Given the description of an element on the screen output the (x, y) to click on. 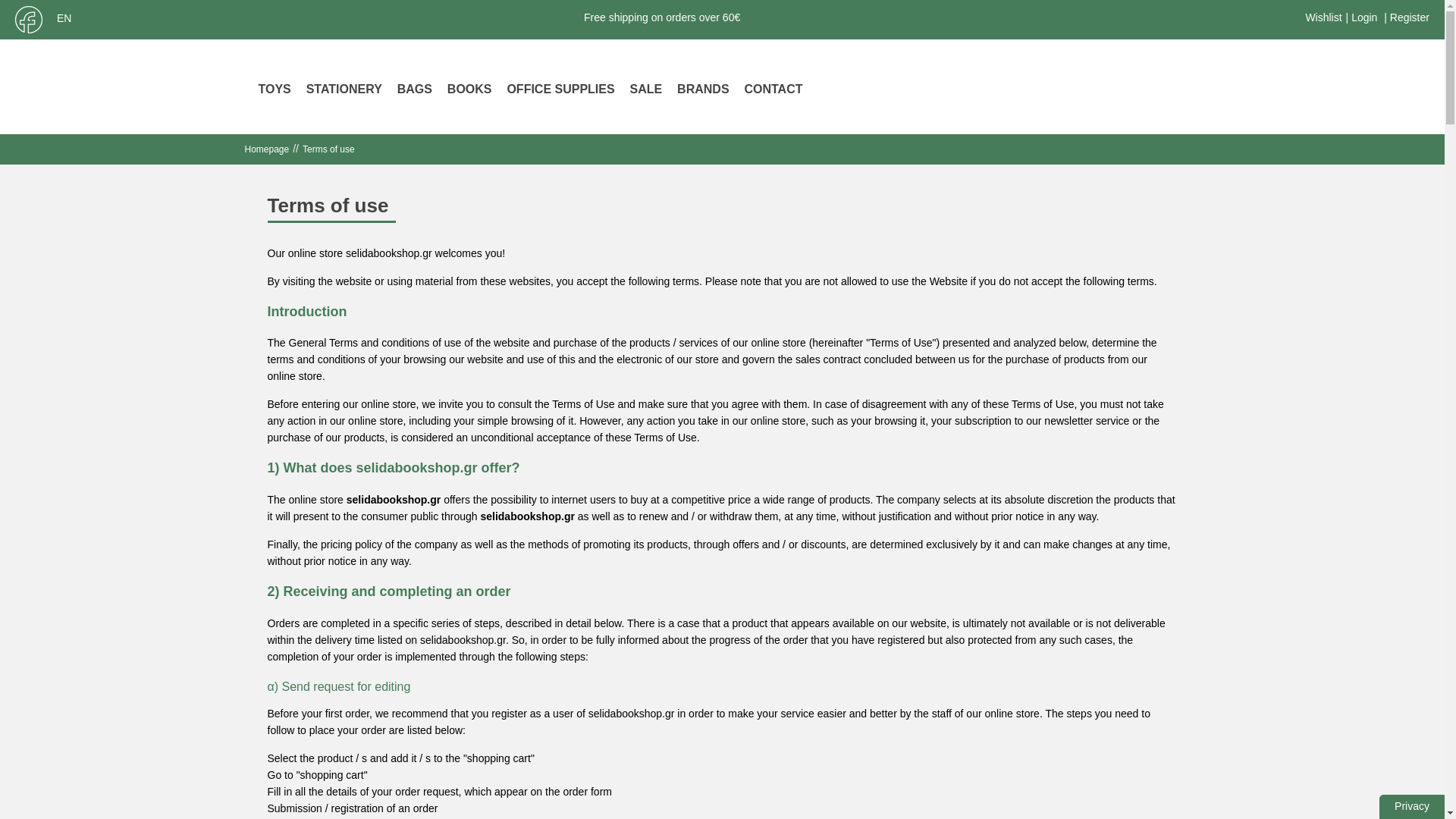
EN (67, 18)
CONTACT (773, 90)
BRANDS (703, 90)
BAGS (414, 90)
Login (1364, 17)
Register (1409, 17)
Join us on Facebook (28, 20)
TOYS (274, 90)
BAGS (414, 90)
TOYS (274, 90)
